Given the description of an element on the screen output the (x, y) to click on. 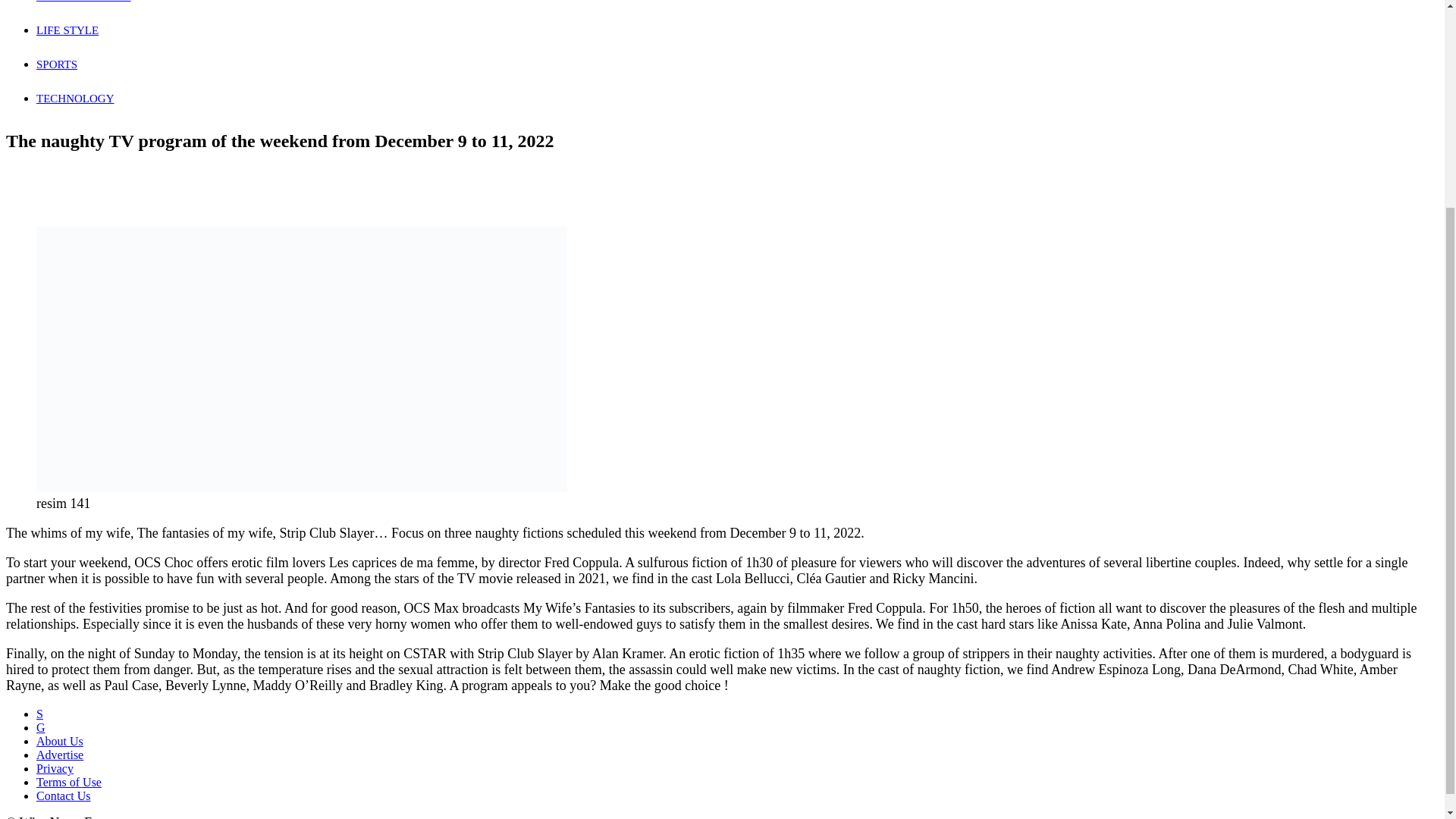
ENTERTAINMENT (83, 1)
About Us (59, 740)
Terms of Use (68, 781)
Privacy (55, 768)
Advertise (59, 754)
LIFE STYLE (67, 30)
TECHNOLOGY (75, 98)
SPORTS (56, 64)
Contact Us (63, 795)
